Given the description of an element on the screen output the (x, y) to click on. 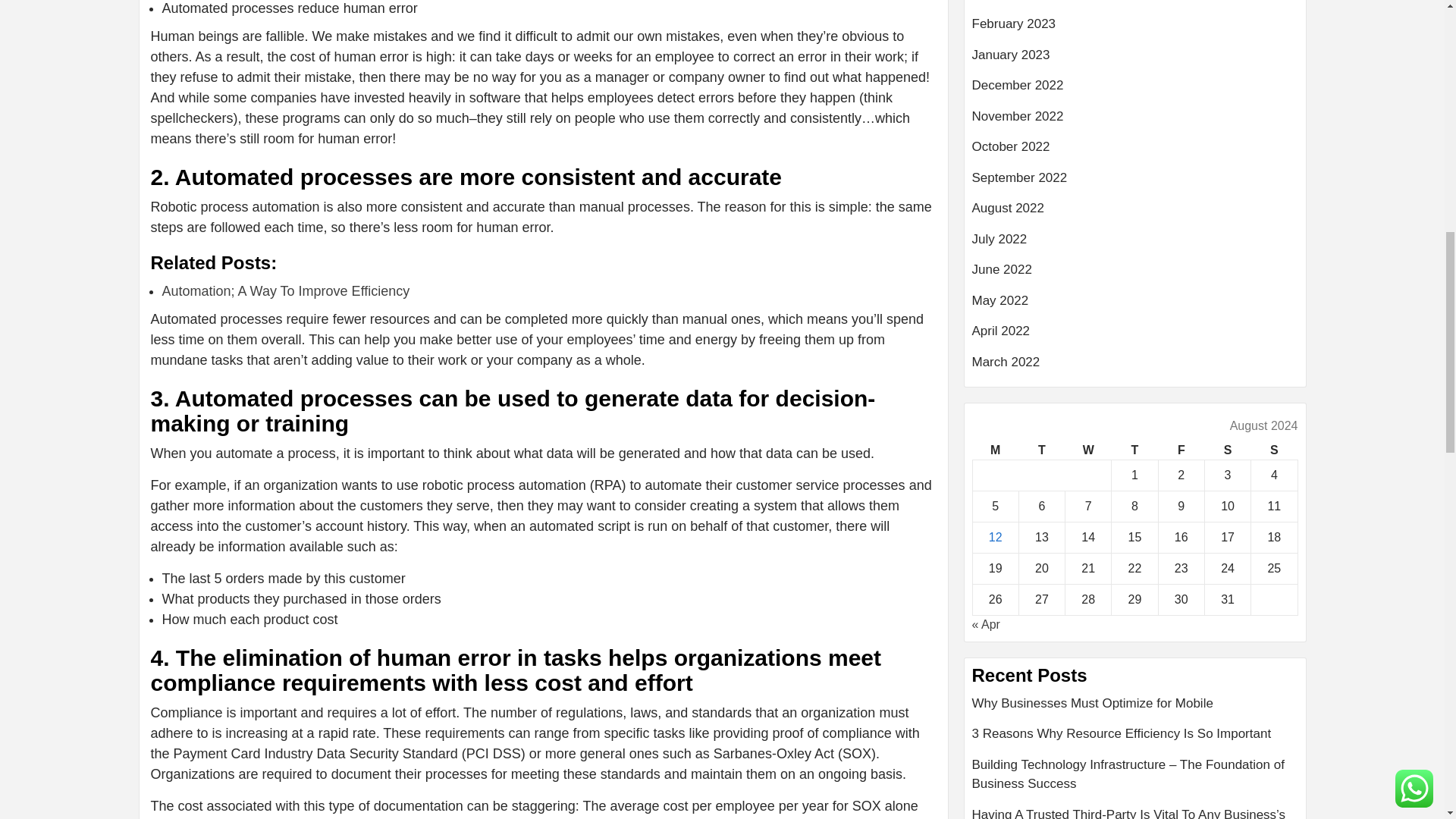
Thursday (1134, 450)
Tuesday (1040, 450)
Wednesday (1088, 450)
Friday (1180, 450)
Monday (994, 450)
Automation; A Way To Improve Efficiency (285, 290)
